Given the description of an element on the screen output the (x, y) to click on. 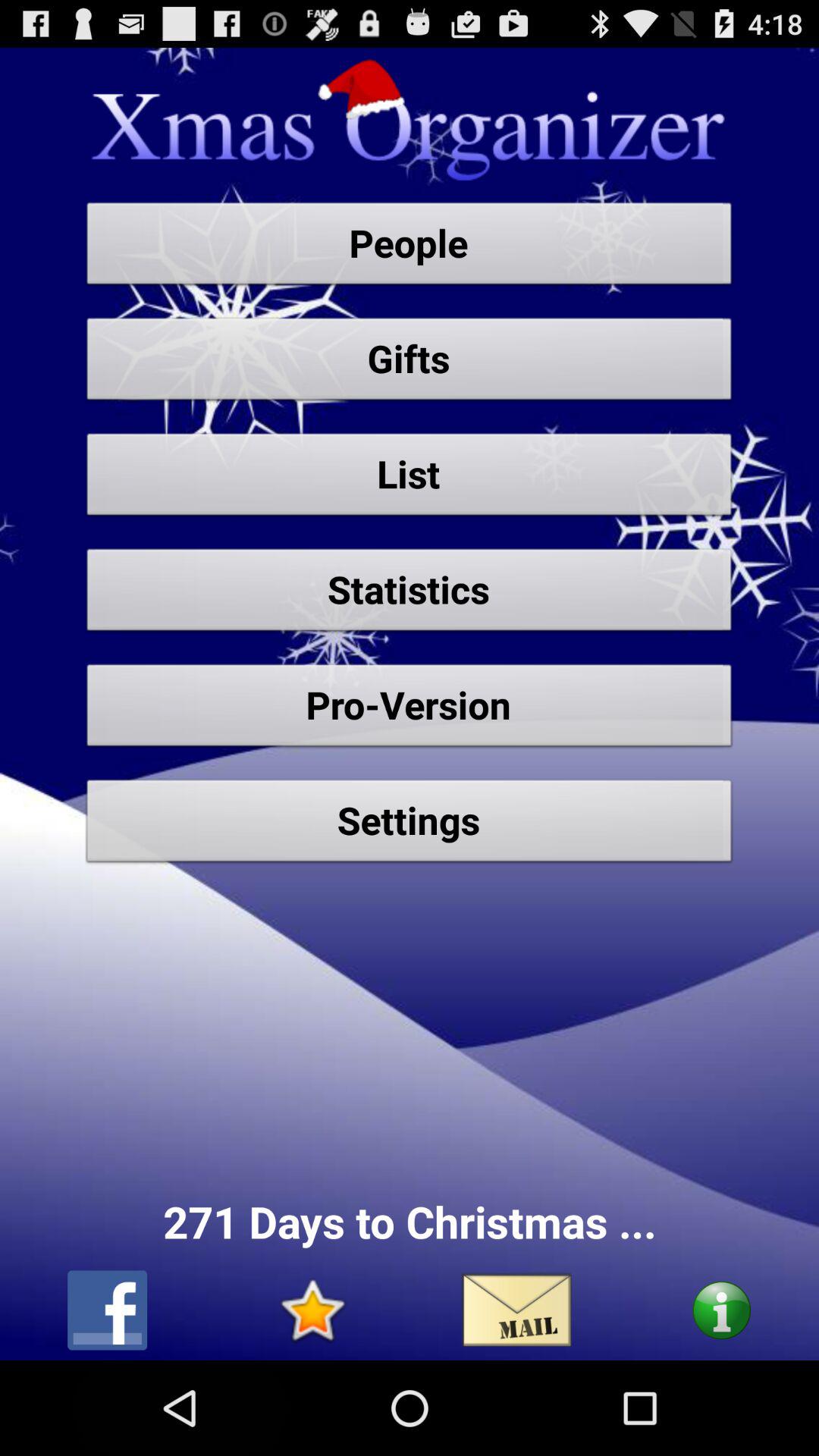
switch mail (516, 1310)
